Given the description of an element on the screen output the (x, y) to click on. 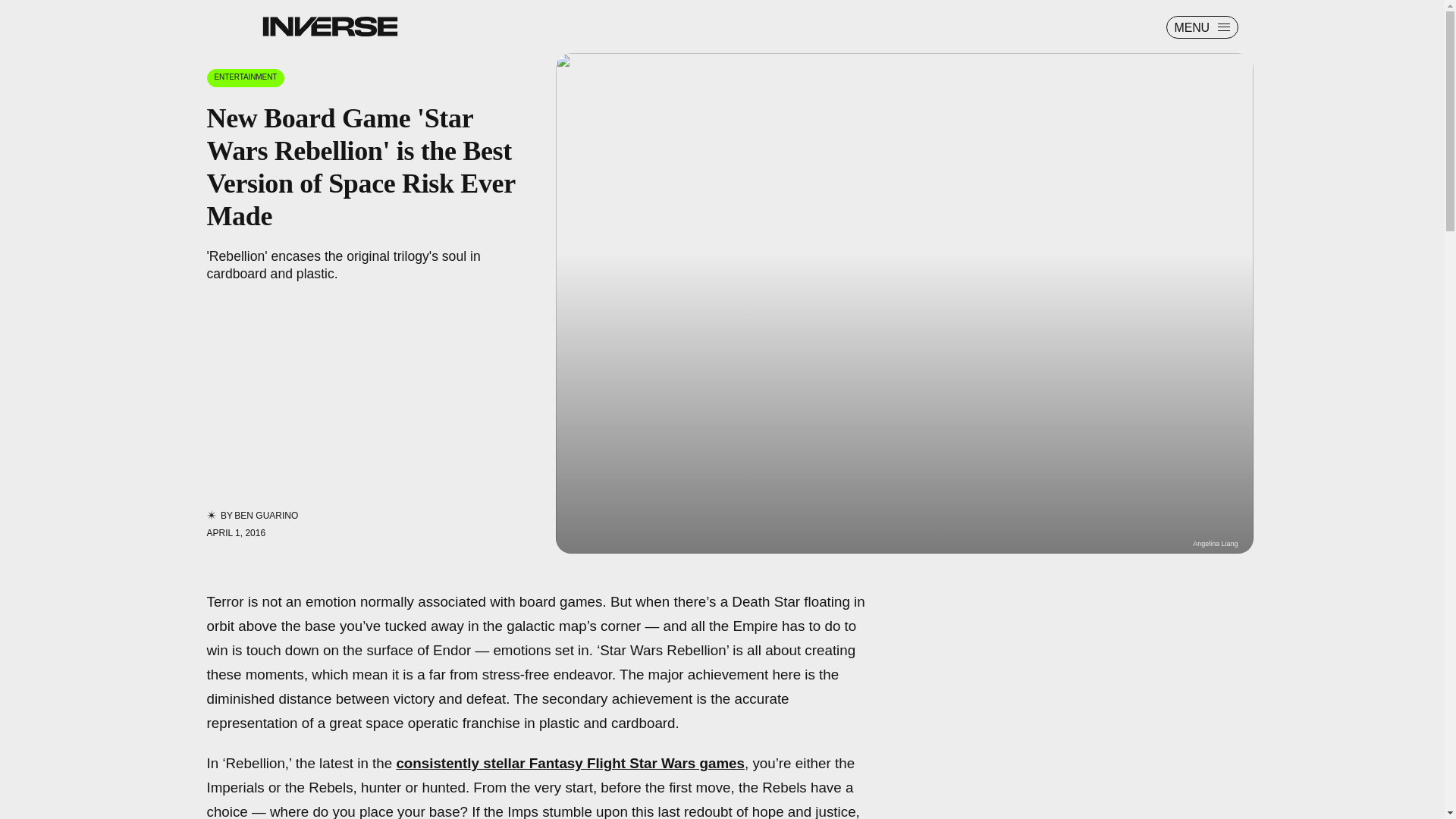
Inverse (328, 26)
BEN GUARINO (266, 515)
consistently stellar Fantasy Flight Star Wars games (570, 763)
